Given the description of an element on the screen output the (x, y) to click on. 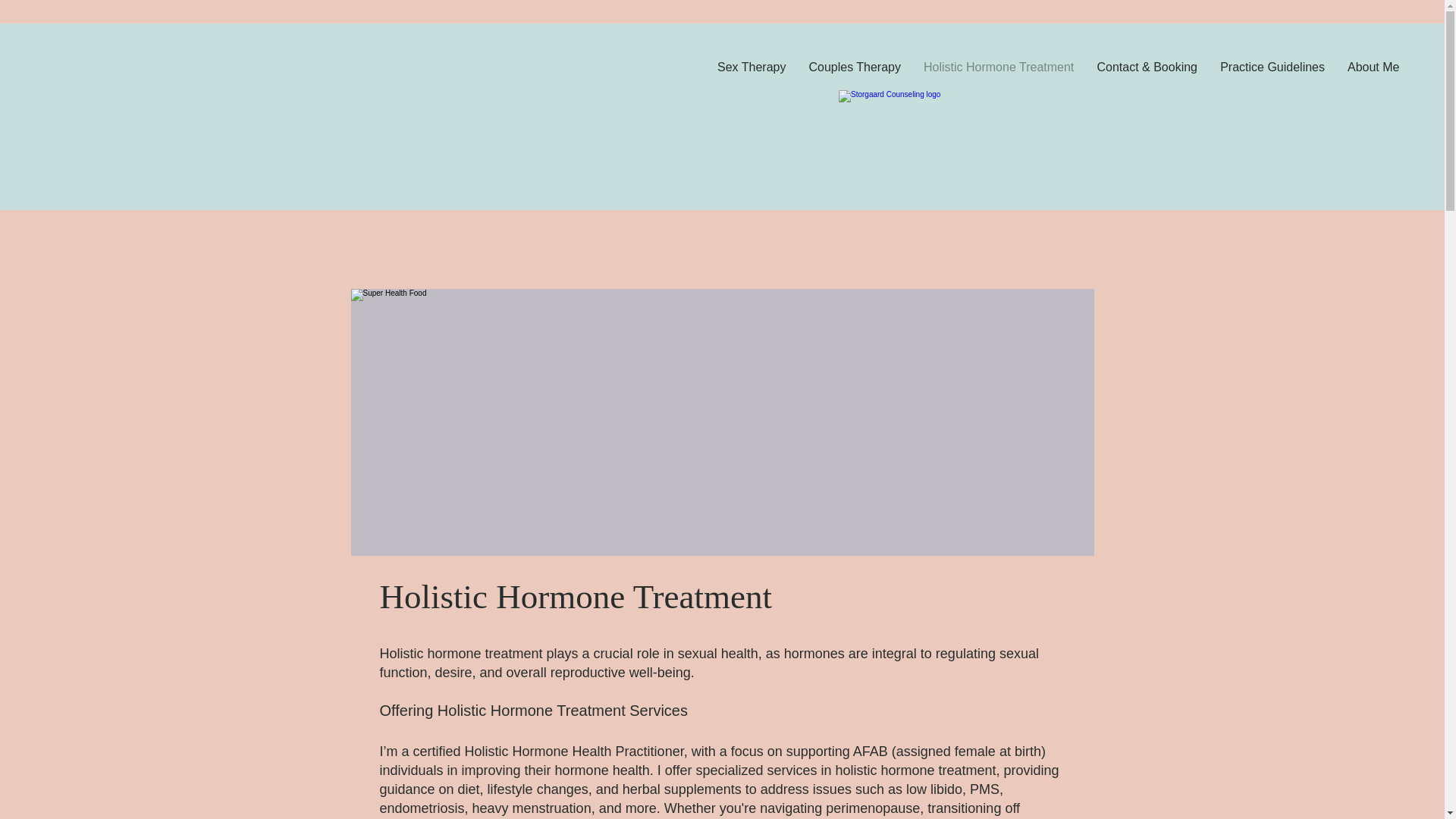
Screenshot 2023-04-09 at 08.18.44.png (938, 145)
Sex Therapy (751, 67)
Practice Guidelines (1272, 67)
About Me (1373, 67)
Holistic Hormone Treatment (998, 67)
Couples Therapy (854, 67)
